Given the description of an element on the screen output the (x, y) to click on. 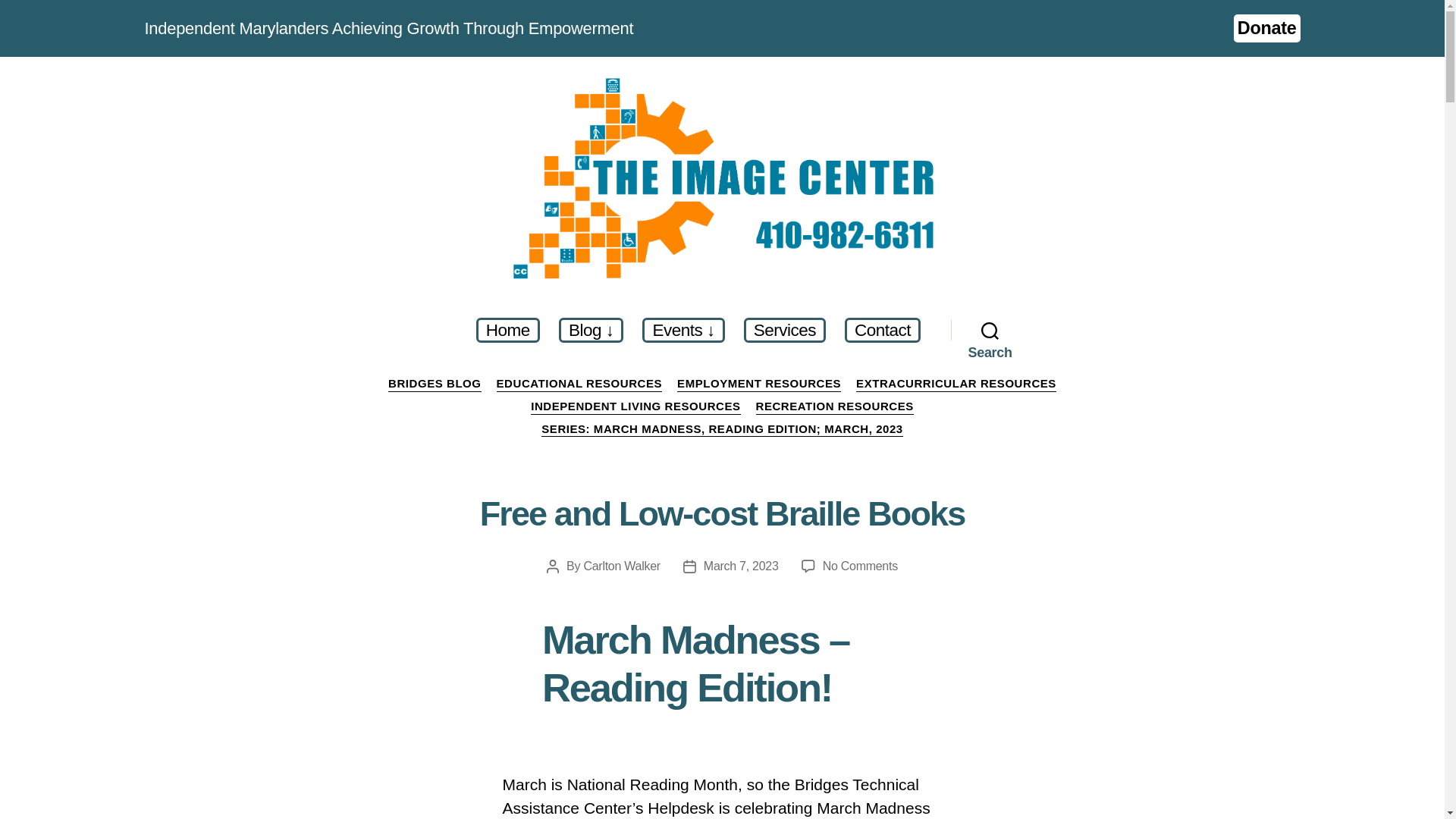
Services (784, 330)
Contact (882, 330)
Home (508, 330)
EDUCATIONAL RESOURCES (579, 384)
Search (989, 329)
BRIDGES BLOG (434, 384)
Donate (1266, 28)
